Given the description of an element on the screen output the (x, y) to click on. 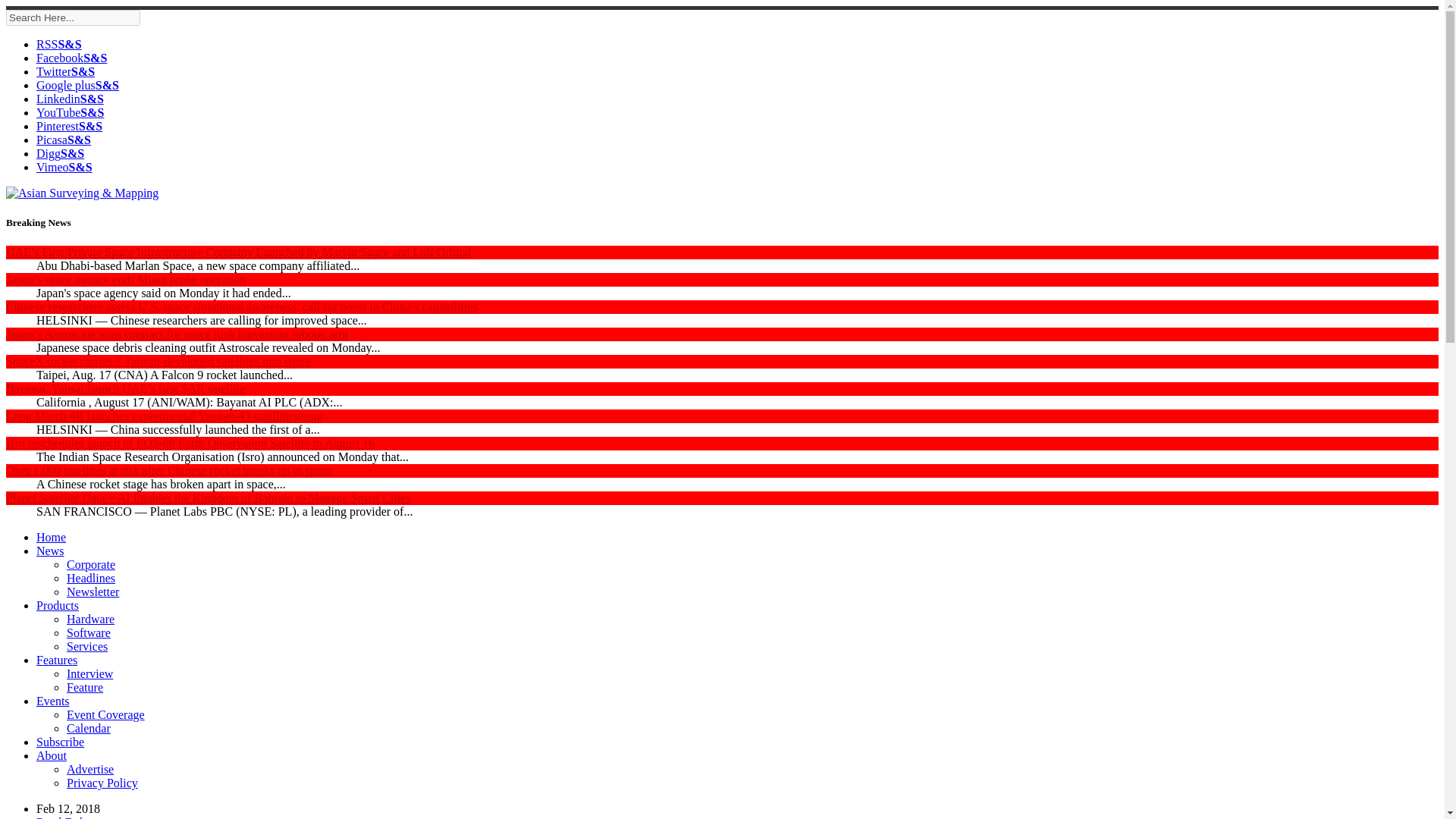
Corporate (90, 563)
Features (56, 659)
Facebook (71, 57)
Interview (89, 673)
Search Here... (72, 17)
About (51, 755)
Headlines (90, 577)
Advertise (89, 768)
